Given the description of an element on the screen output the (x, y) to click on. 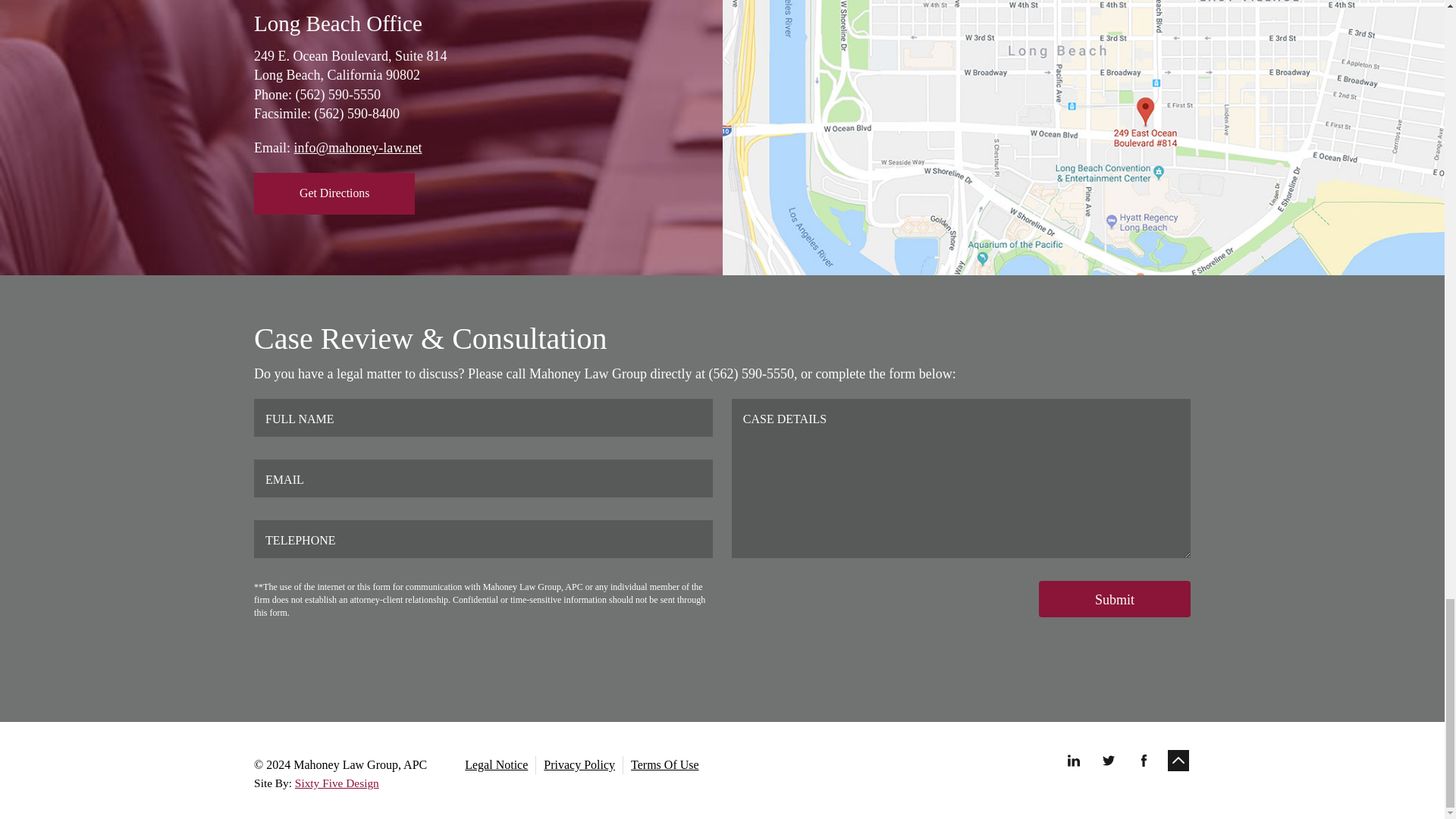
Submit (1115, 598)
